Given the description of an element on the screen output the (x, y) to click on. 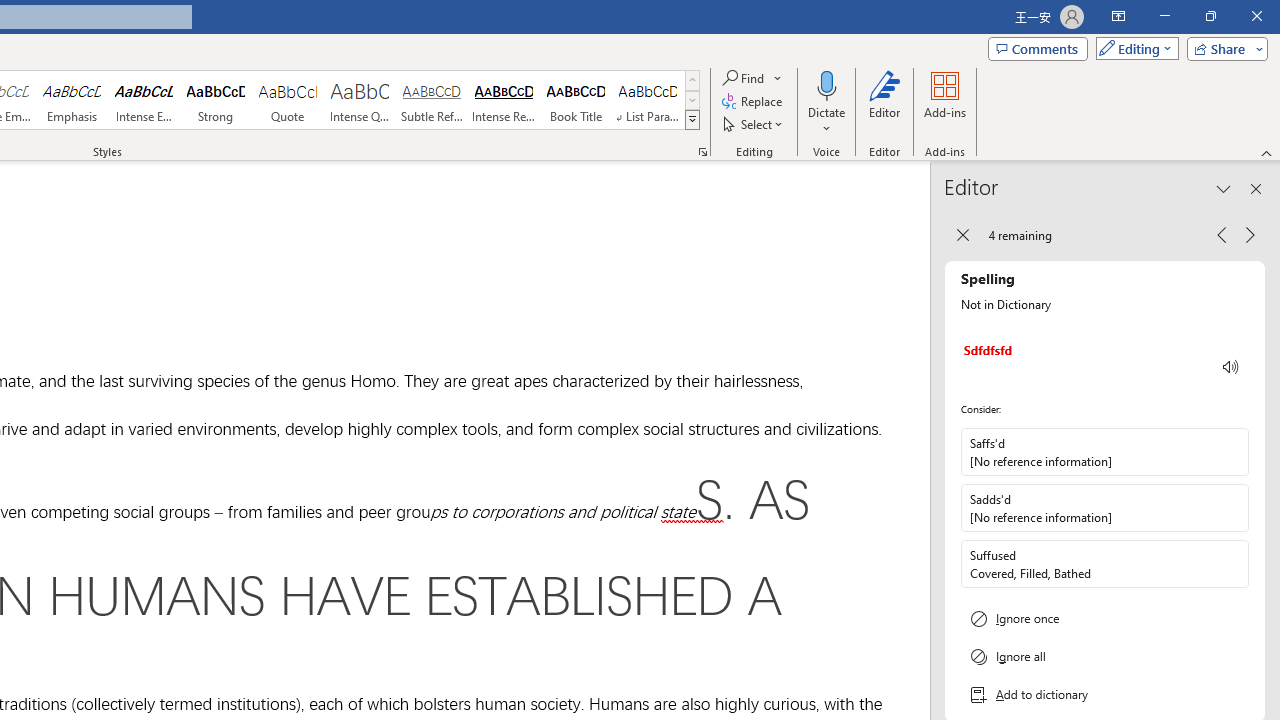
Subtle Reference (431, 100)
Dictate (826, 102)
Mode (1133, 47)
Collapse the Ribbon (1267, 152)
Find (753, 78)
Styles... (702, 151)
Intense Quote (359, 100)
More options for Sadds'd (1232, 508)
Editor (885, 102)
Dictate (826, 84)
Back (962, 234)
More options for Saffs'd (1232, 452)
Previous Issue, 4 remaining (1221, 234)
